Given the description of an element on the screen output the (x, y) to click on. 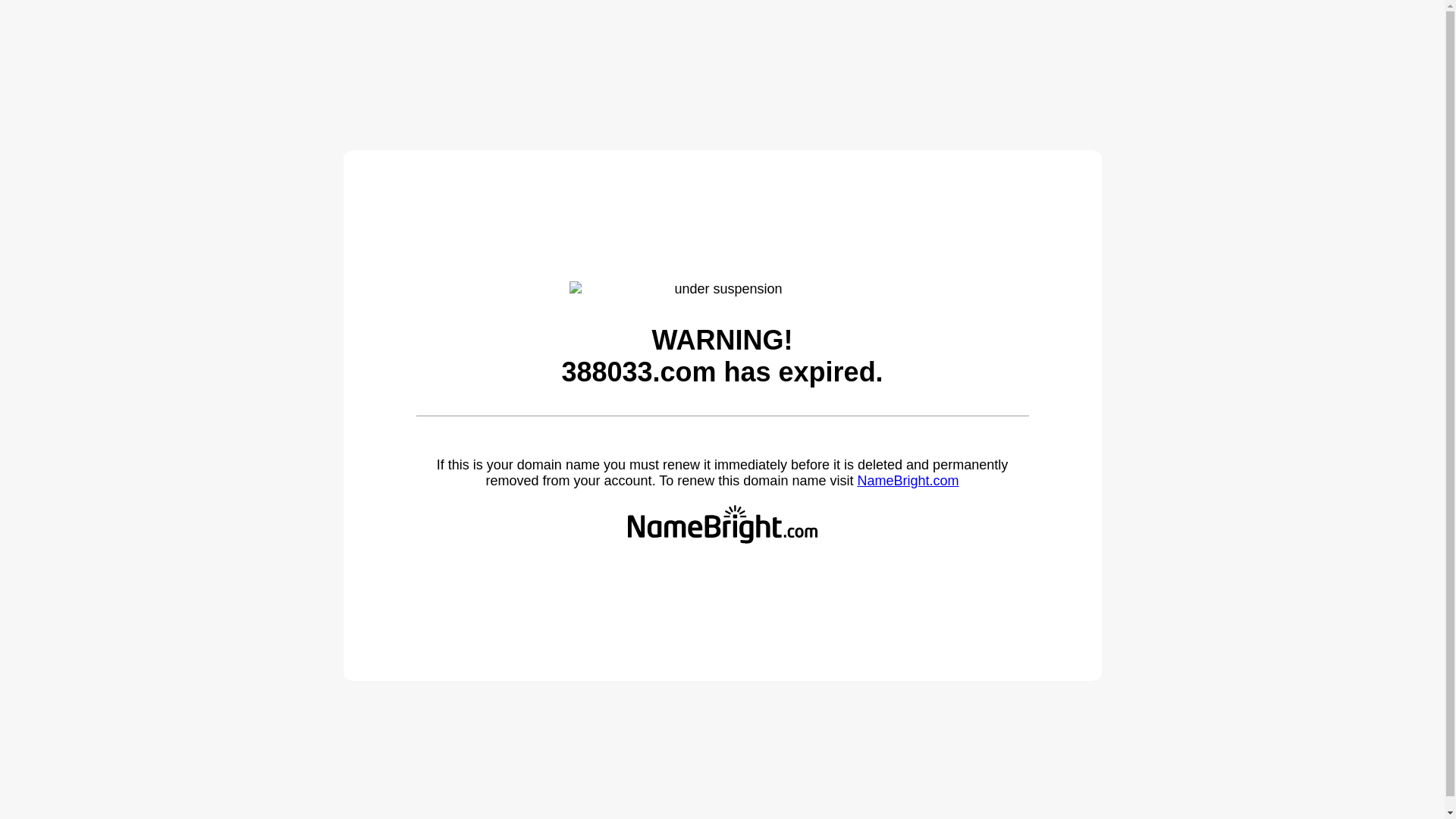
NameBright.com Element type: text (907, 480)
